Given the description of an element on the screen output the (x, y) to click on. 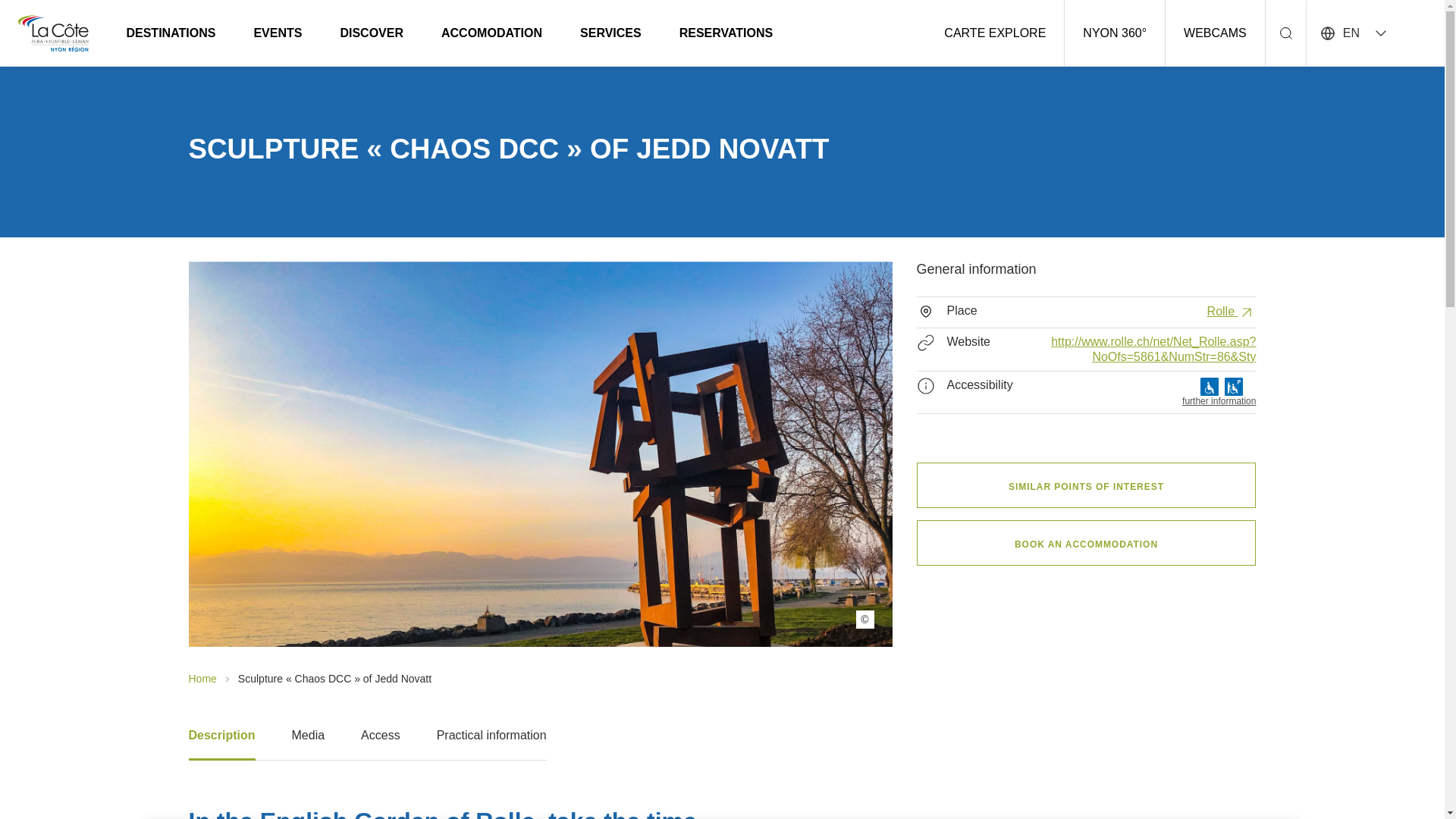
DISCOVER (371, 32)
DESTINATIONS (170, 32)
EVENTS (277, 32)
